Given the description of an element on the screen output the (x, y) to click on. 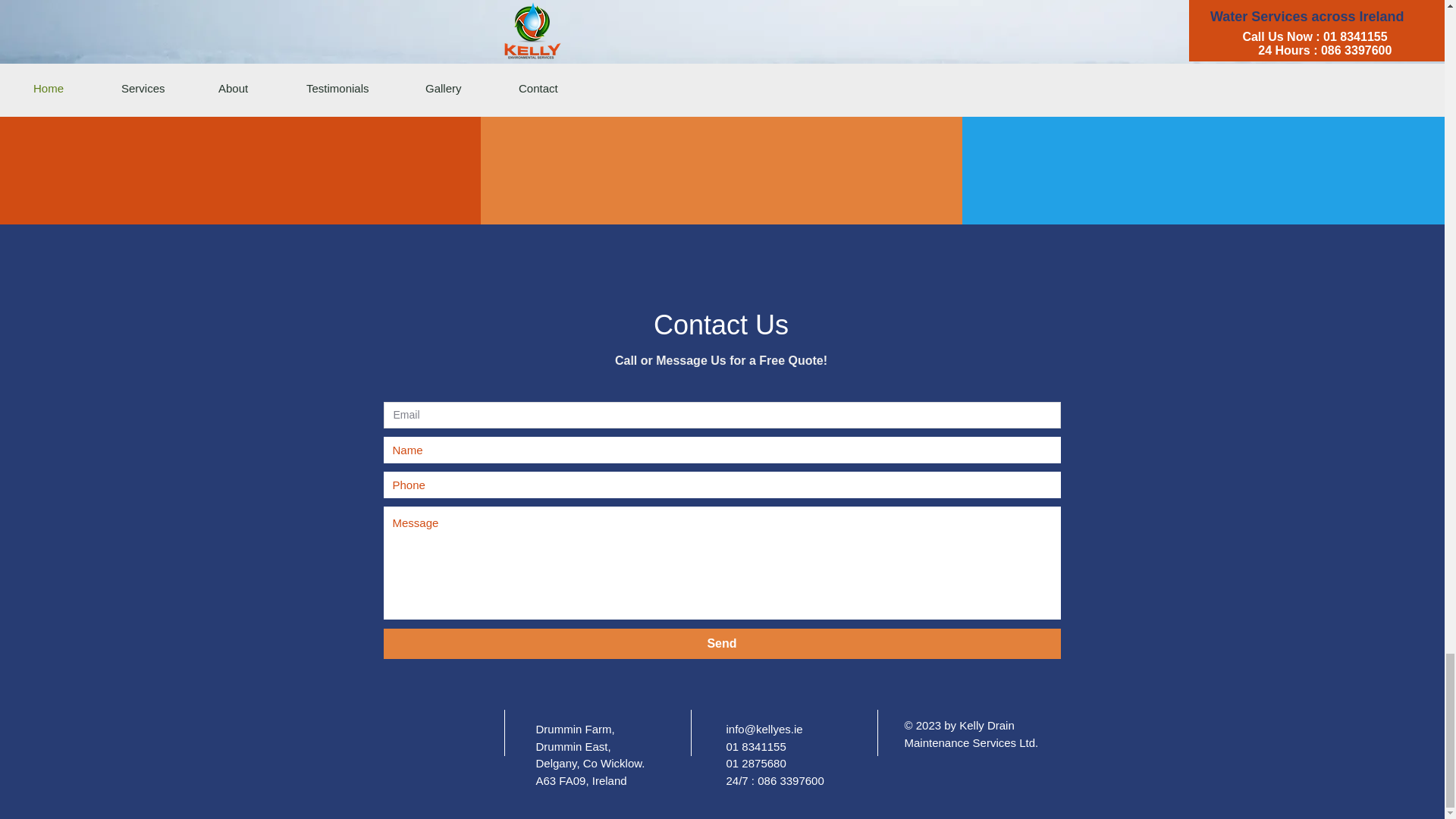
Send (722, 643)
